Given the description of an element on the screen output the (x, y) to click on. 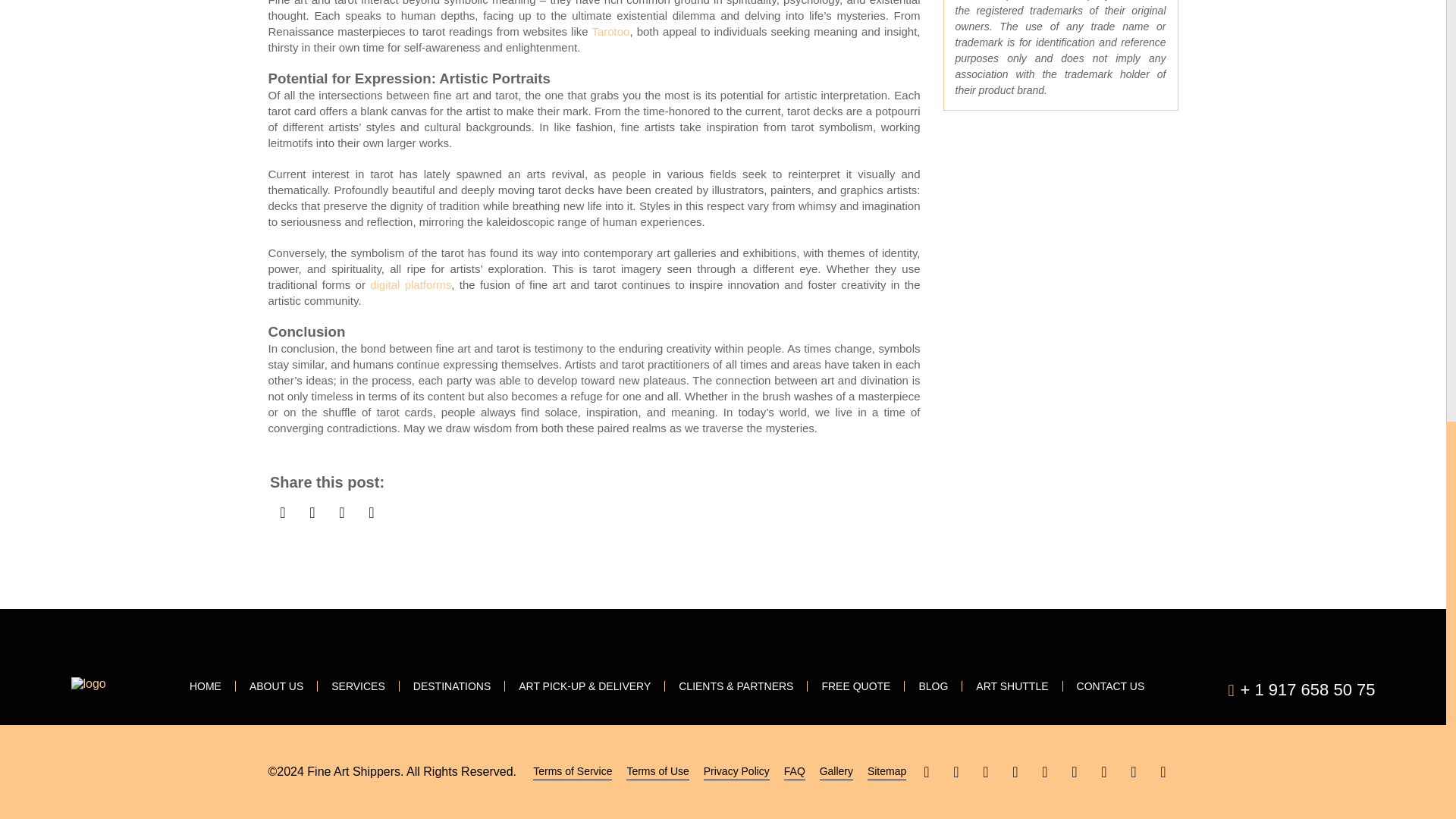
Tweet (311, 511)
Official Instagram accounts (1103, 771)
Official Reddit accounts (1134, 771)
Official Yelp accounts (1044, 771)
Official Pinterest accounts (1016, 771)
digital platforms (410, 284)
Share on LinkedIn (342, 511)
Tarotoo (609, 31)
Official Quora accounts (1163, 771)
Email (371, 511)
Official Facebook page (925, 771)
Share on Facebook (283, 511)
Official Youtube accounts (985, 771)
Official Twitter accounts (956, 771)
Official Linkedin profile (1074, 771)
